Given the description of an element on the screen output the (x, y) to click on. 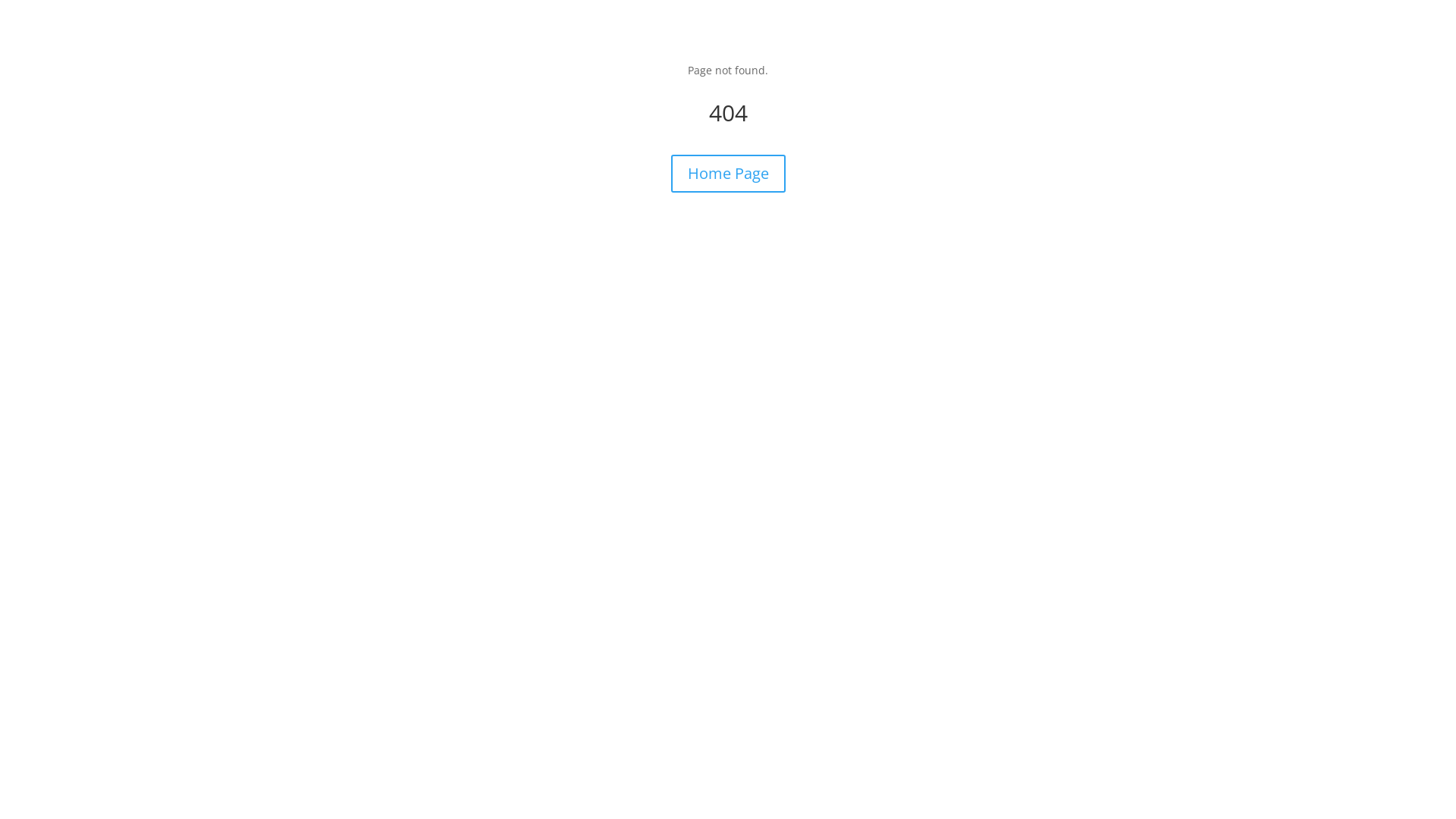
Home Page Element type: text (727, 173)
